Given the description of an element on the screen output the (x, y) to click on. 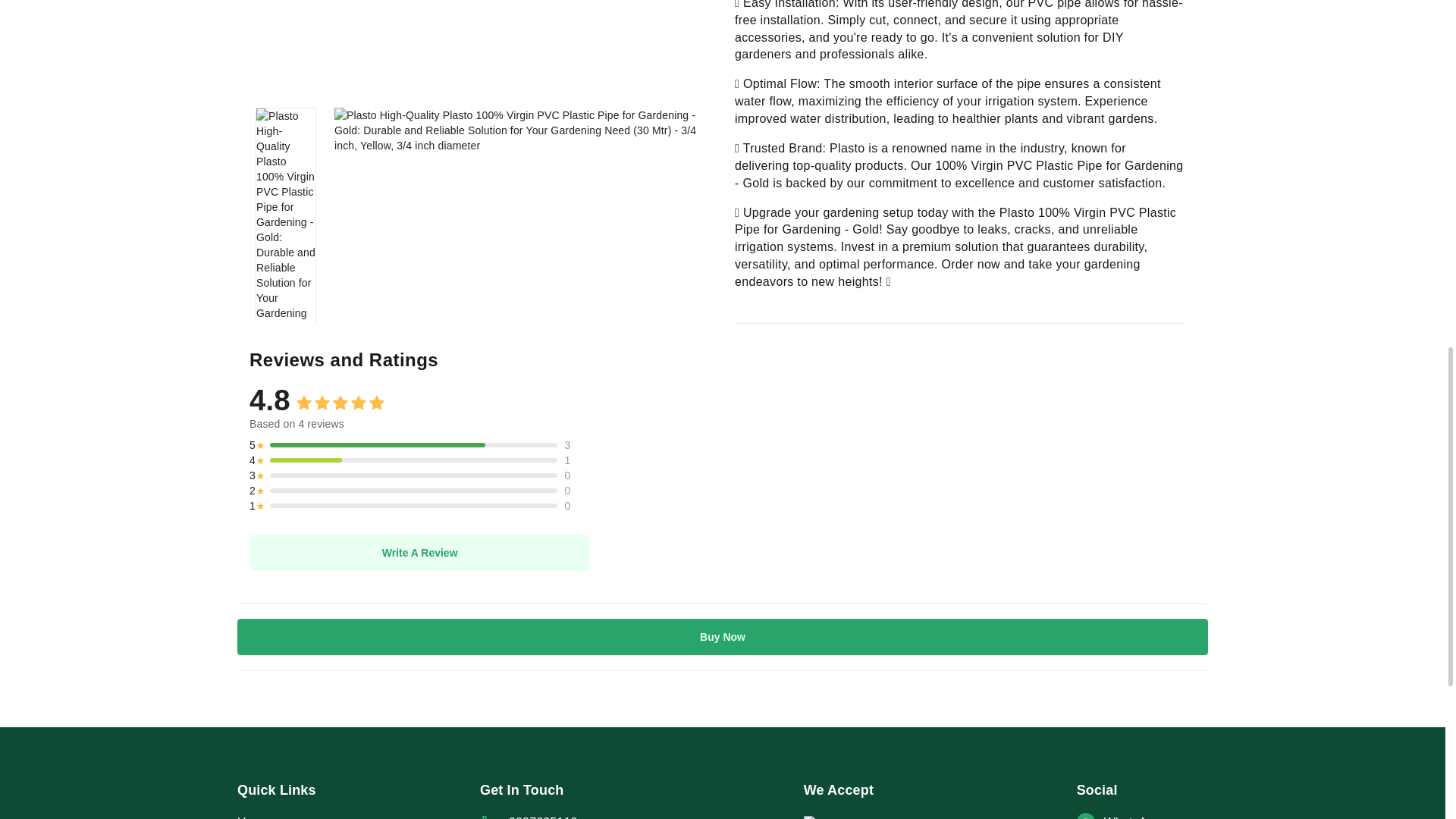
Write A Review (418, 552)
Buy Now (722, 637)
9837635110 (626, 816)
Home (358, 816)
WhatsApp (1142, 816)
